Given the description of an element on the screen output the (x, y) to click on. 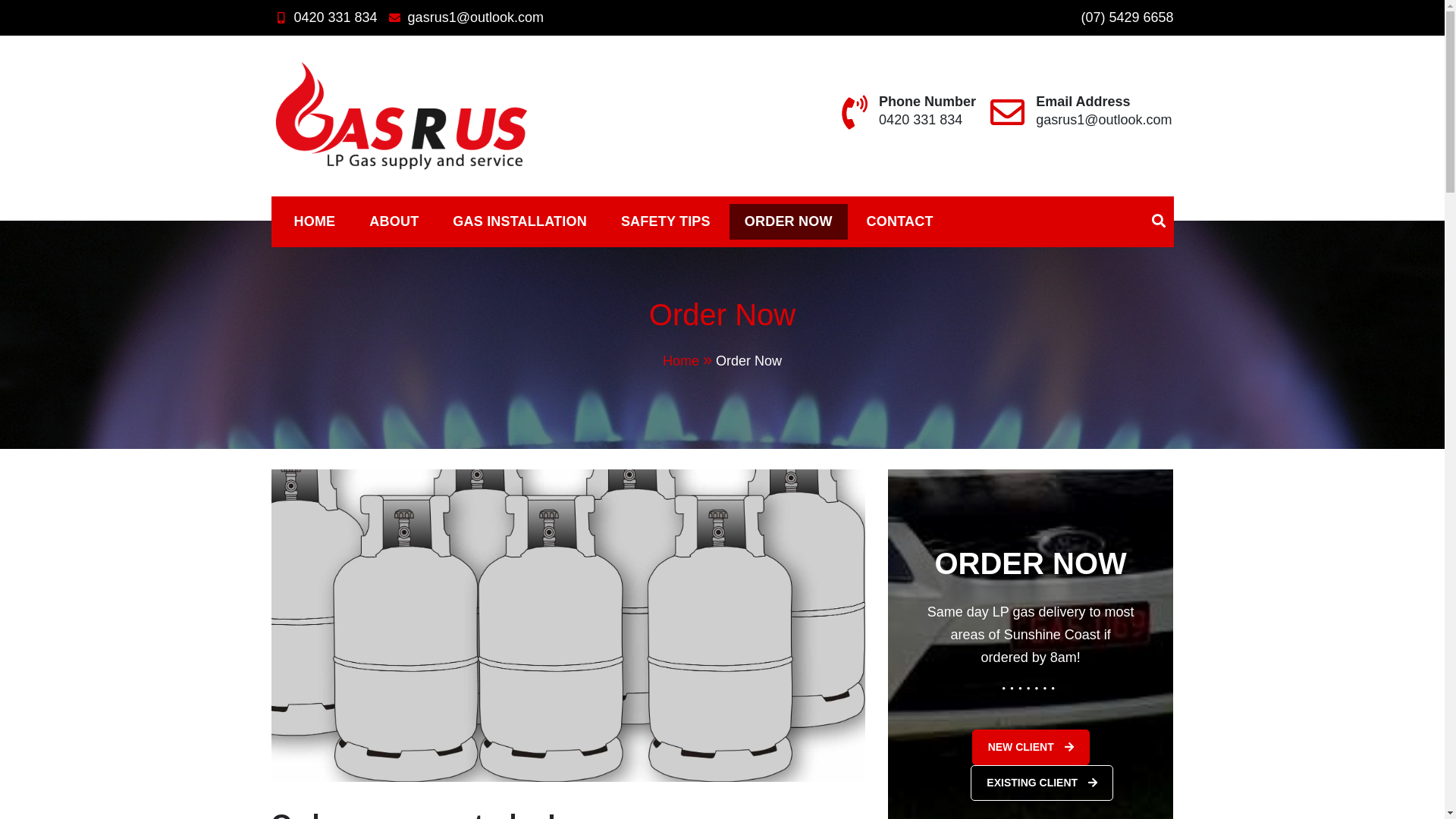
NEW CLIENT Element type: text (1030, 747)
HOME Element type: text (315, 221)
gasrus1@outlook.com Element type: text (1103, 119)
SAFETY TIPS Element type: text (665, 221)
(07) 5429 6658 Element type: text (1126, 17)
CONTACT Element type: text (899, 221)
0420 331 834 Element type: text (920, 119)
Search Element type: text (879, 380)
ORDER NOW Element type: text (788, 221)
Home Element type: text (688, 360)
EXISTING CLIENT Element type: text (1041, 782)
GAS INSTALLATION Element type: text (519, 221)
Gas R Us Element type: text (331, 189)
gasrus1@outlook.com Element type: text (464, 17)
ABOUT Element type: text (393, 221)
0420 331 834 Element type: text (324, 17)
